Given the description of an element on the screen output the (x, y) to click on. 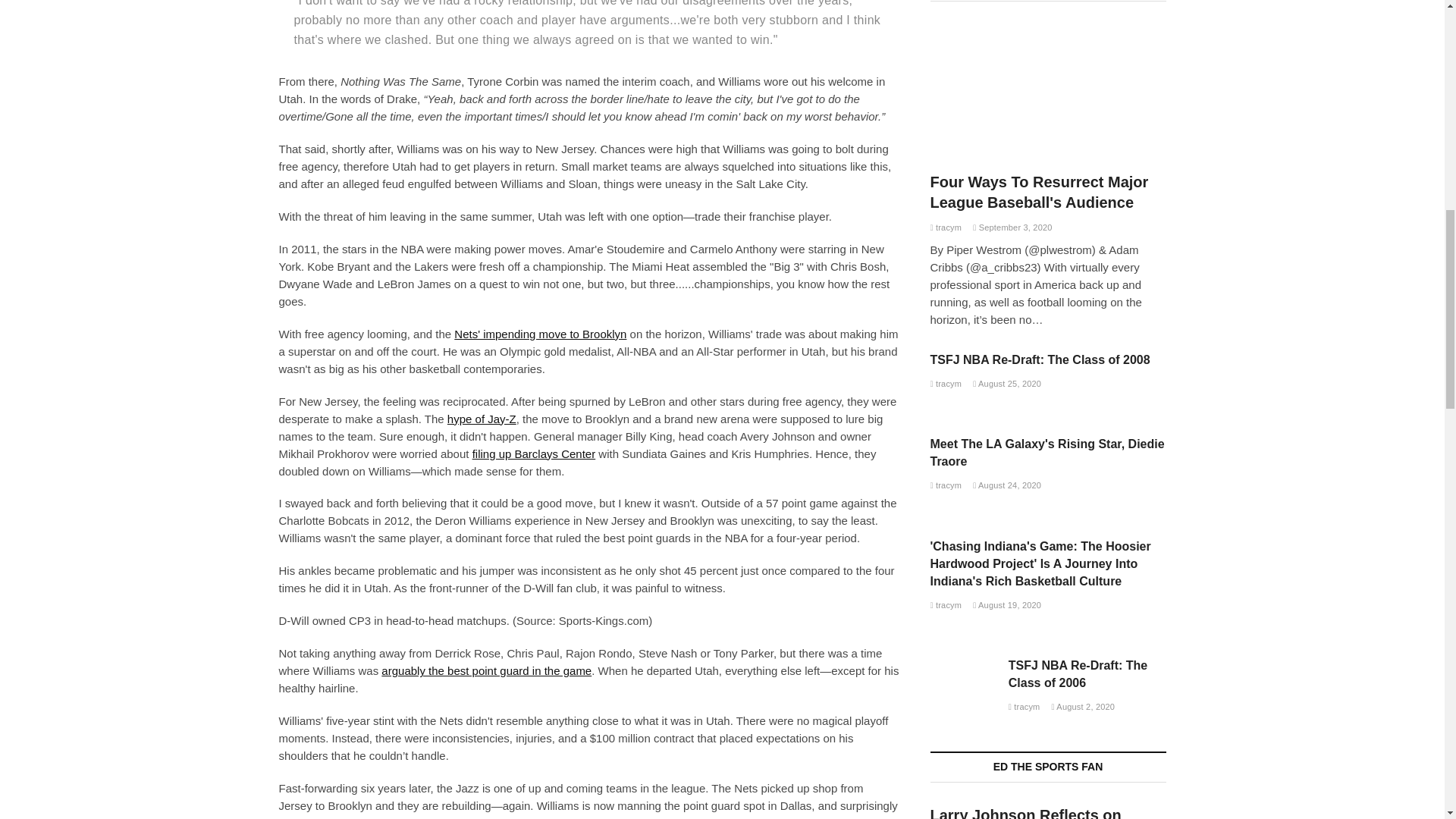
September 3, 2020 (1011, 226)
TSFJ NBA Re-Draft: The Class of 2008 (1040, 359)
Four Ways To Resurrect Major League Baseball's Audience (1039, 191)
Four Ways To Resurrect Major League Baseball's Audience (945, 226)
TSFJ NBA Re-Draft: The Class of 2008 (945, 383)
Four Ways To Resurrect Major League Baseball's Audience (1048, 90)
